Given the description of an element on the screen output the (x, y) to click on. 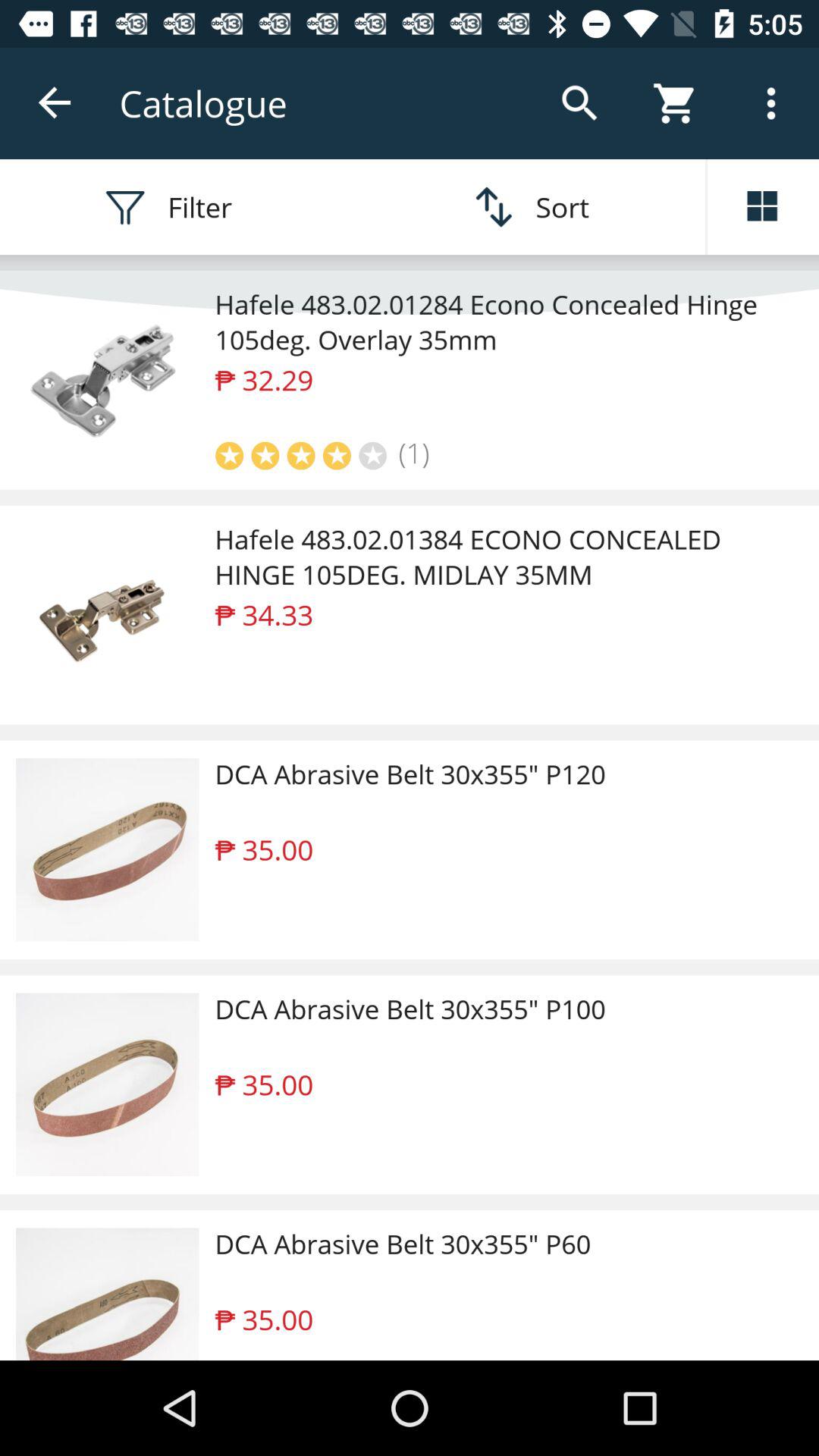
open in windows (763, 206)
